Given the description of an element on the screen output the (x, y) to click on. 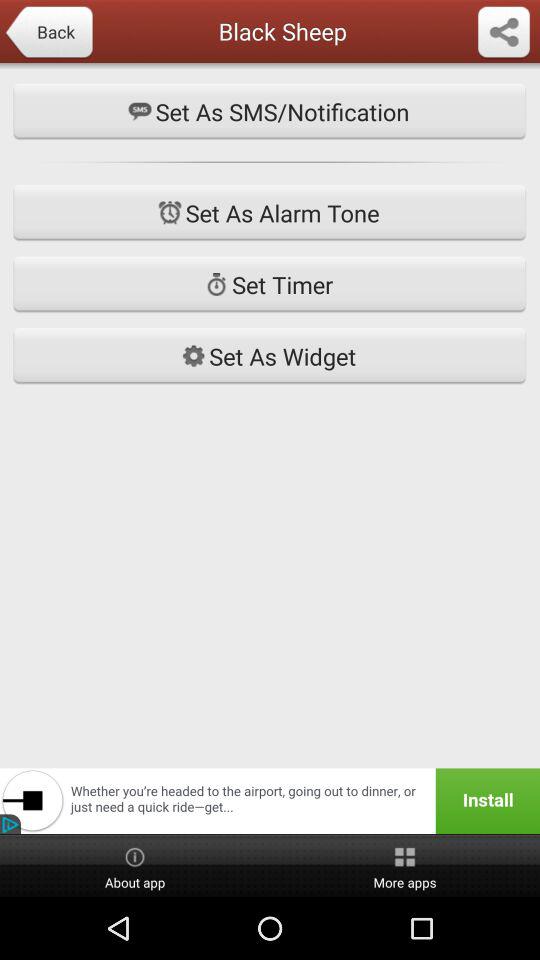
launch app to the right of black sheep app (503, 33)
